Given the description of an element on the screen output the (x, y) to click on. 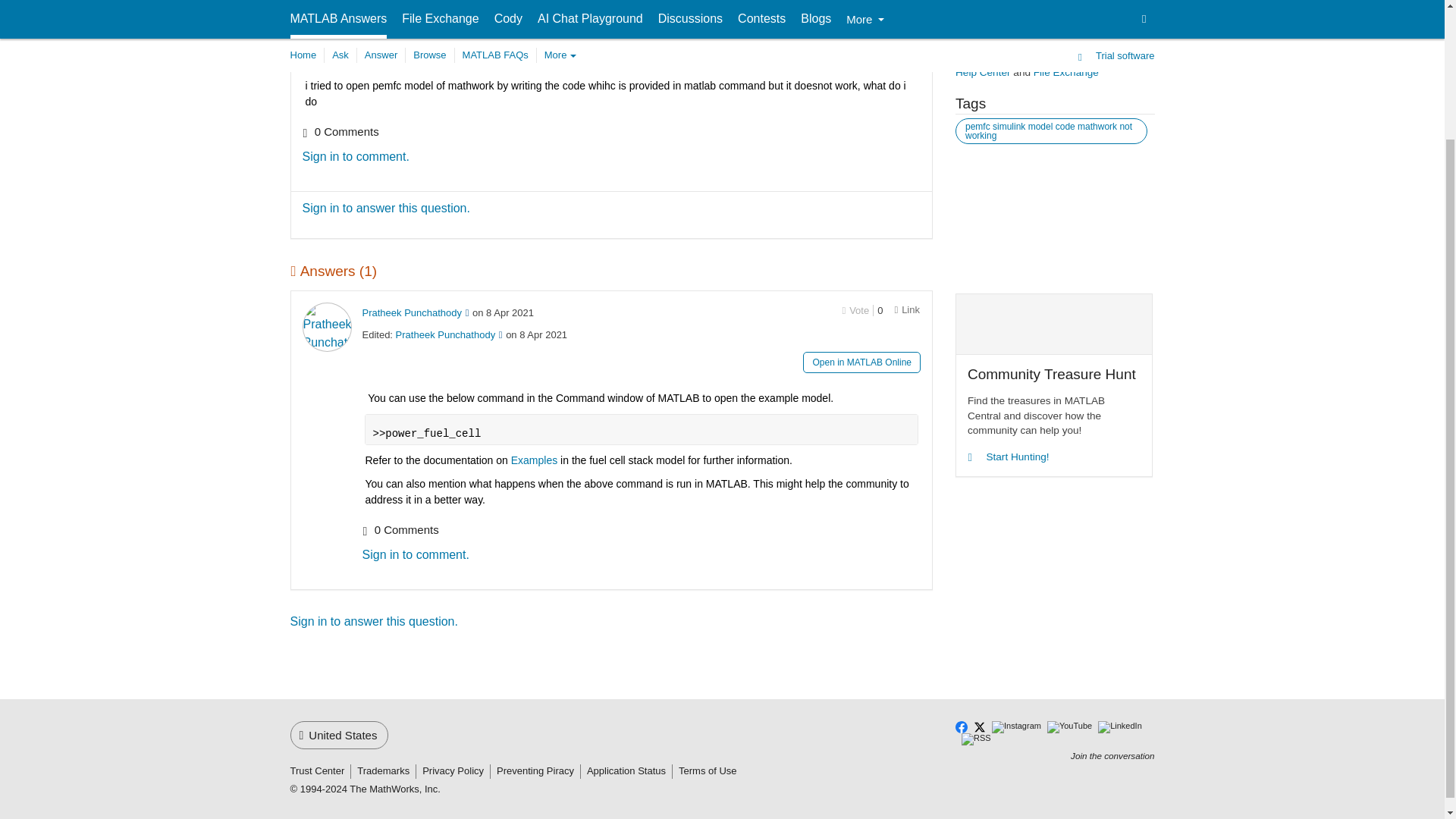
Sign in to vote for questions and answers (855, 310)
Direct link to this answer (906, 309)
Direct link to this question (906, 31)
Sign in to follow activity (306, 4)
Sign in to vote for questions and answers (855, 32)
